Given the description of an element on the screen output the (x, y) to click on. 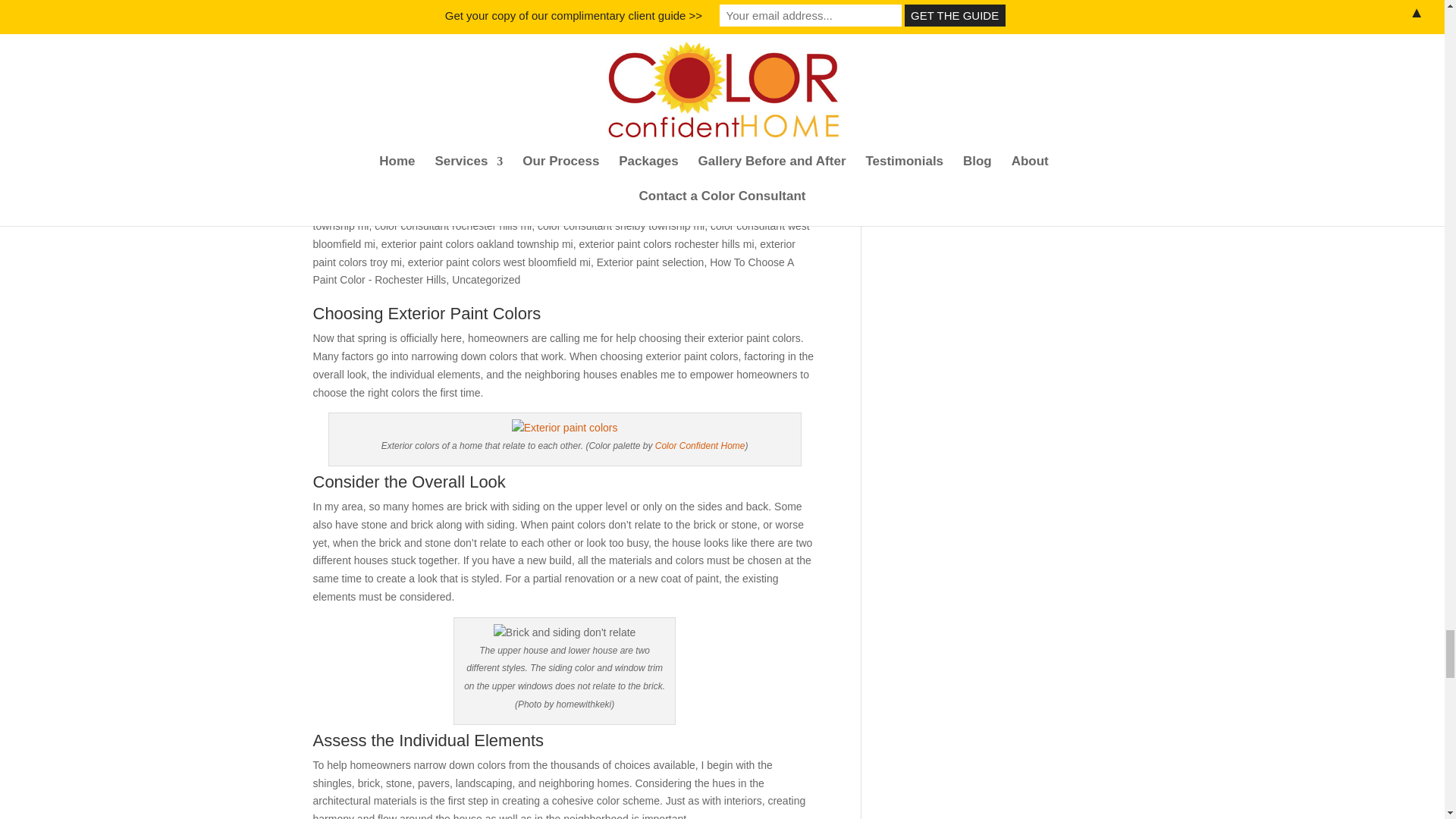
Posts by Cheryl Adams - Color Confident Home (416, 189)
